Given the description of an element on the screen output the (x, y) to click on. 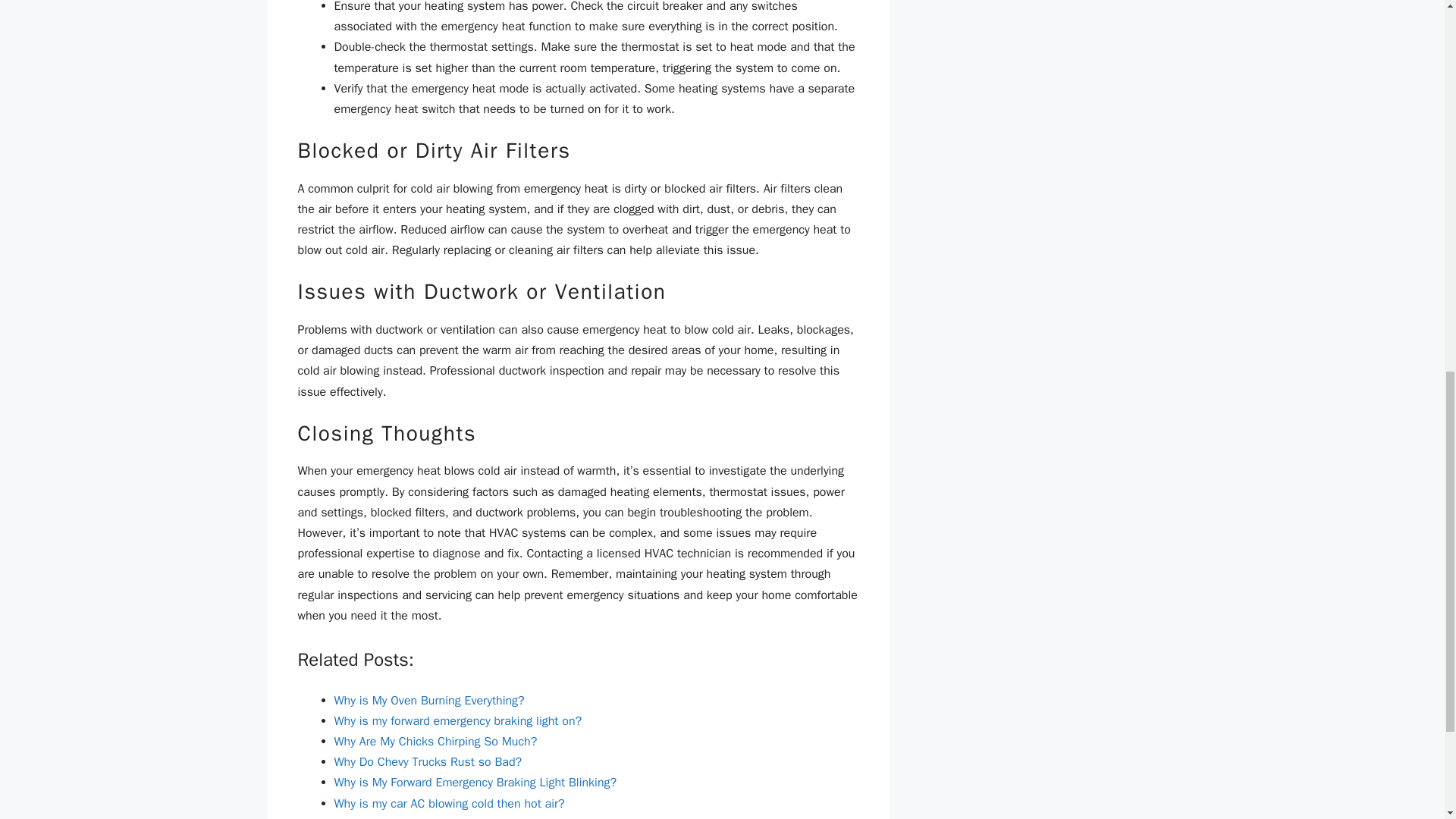
Why is my car AC blowing cold then hot air? (448, 803)
Why is my forward emergency braking light on? (456, 720)
Why is My Forward Emergency Braking Light Blinking? (474, 782)
Why is My Oven Burning Everything? (428, 700)
Why Do Chevy Trucks Rust so Bad? (427, 761)
Why Are My Chicks Chirping So Much? (435, 741)
